Given the description of an element on the screen output the (x, y) to click on. 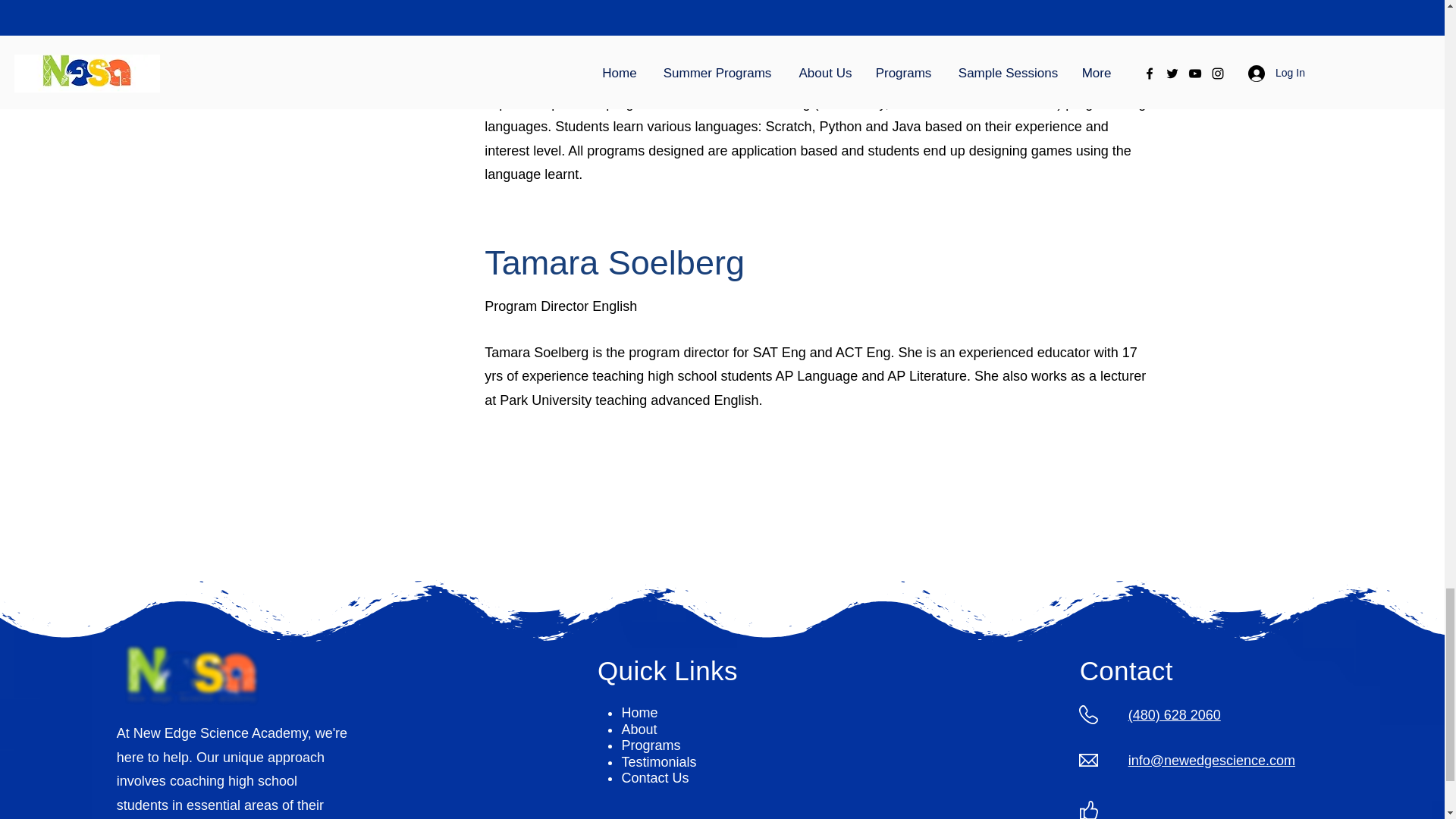
About (638, 729)
Home (639, 712)
Contact Us (654, 777)
Programs (650, 744)
Testimonials (658, 761)
